Given the description of an element on the screen output the (x, y) to click on. 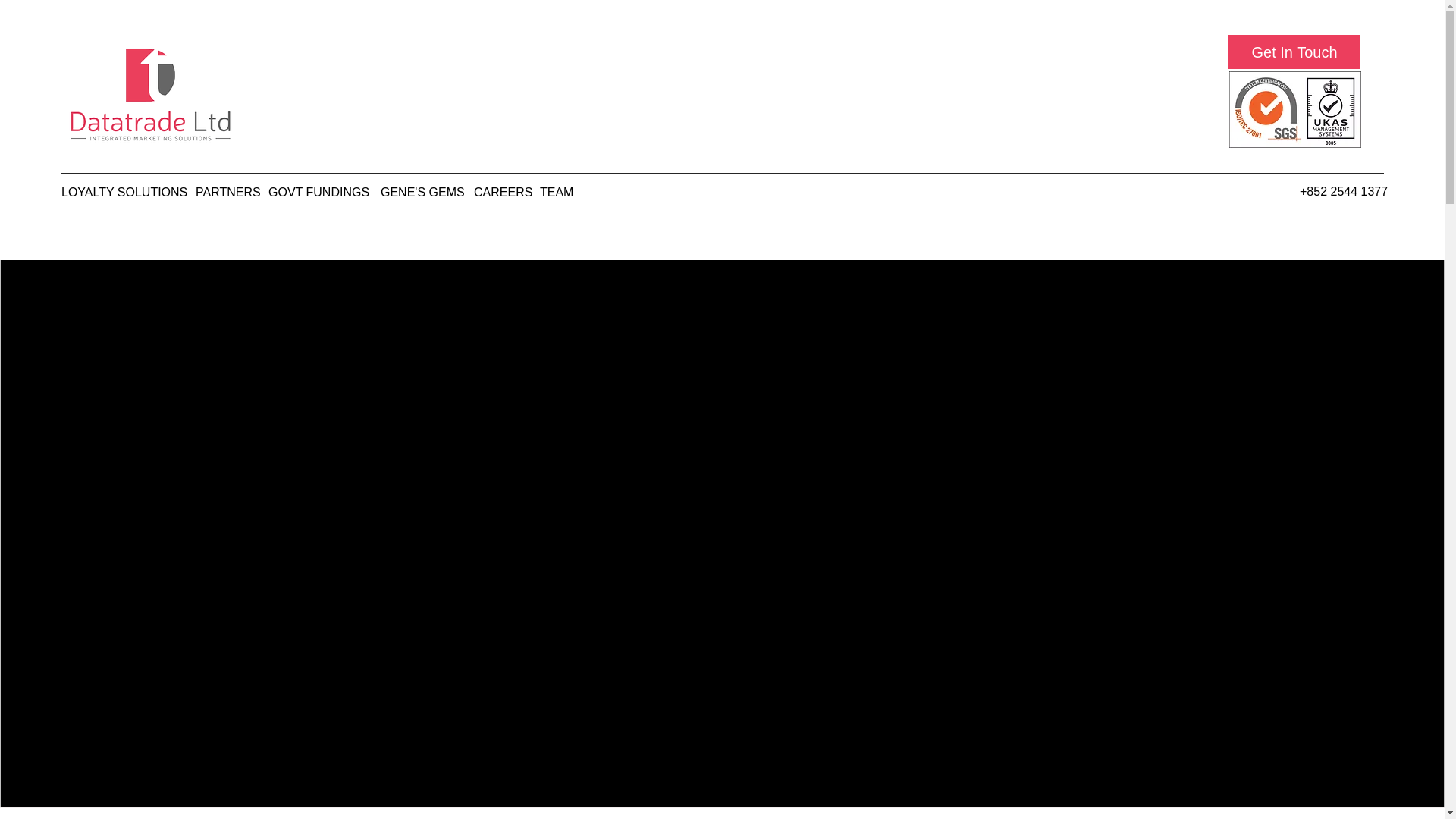
GOVT FUNDINGS (316, 191)
PARTNERS (223, 191)
Get In Touch (1293, 51)
TEAM (555, 191)
CAREERS (498, 191)
LOYALTY SOLUTIONS (120, 191)
GENE'S GEMS (418, 191)
